Given the description of an element on the screen output the (x, y) to click on. 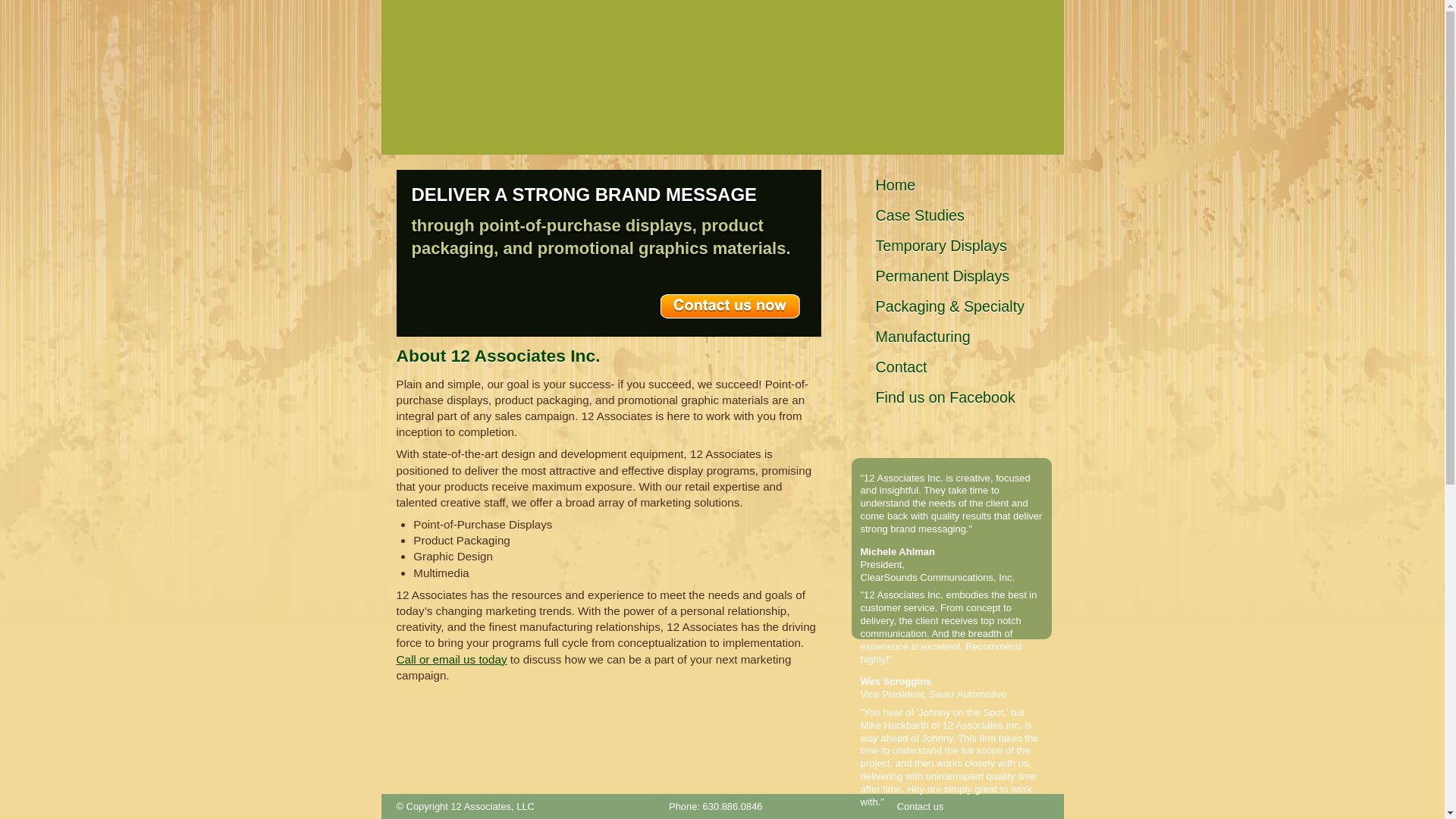
Contact Element type: text (949, 366)
Home Element type: text (949, 184)
Find us on Facebook Element type: text (949, 397)
Permanent Displays Element type: text (949, 275)
Case Studies Element type: text (949, 215)
Call or email us today Element type: text (450, 658)
Contact us Element type: text (920, 806)
Manufacturing Element type: text (949, 336)
Packaging & Specialty Element type: text (949, 306)
Temporary Displays Element type: text (949, 245)
